Given the description of an element on the screen output the (x, y) to click on. 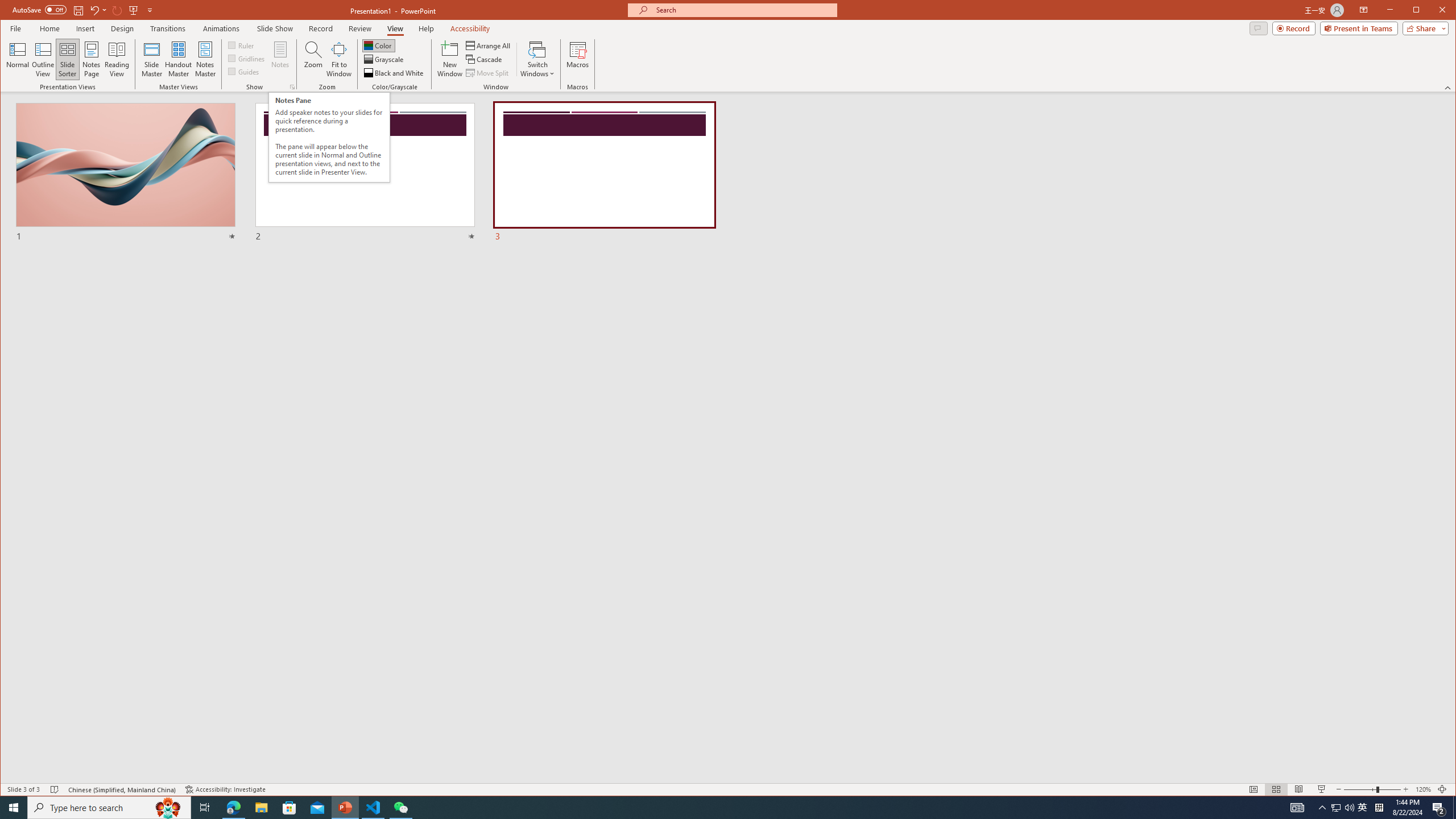
Notes Master (204, 59)
